Given the description of an element on the screen output the (x, y) to click on. 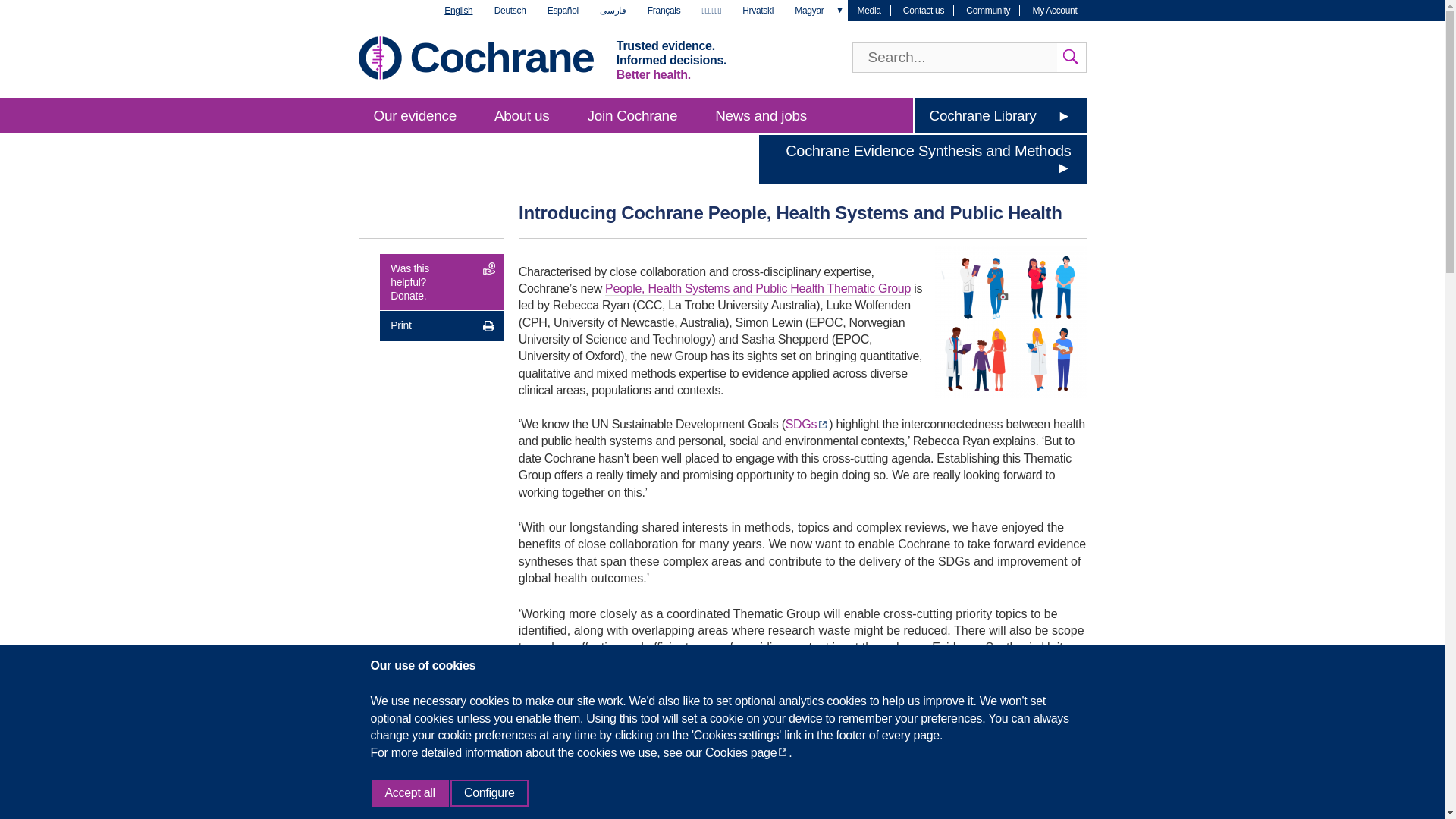
Home (379, 57)
Deutsch (509, 10)
Search (1071, 57)
Our evidence (414, 115)
Home (500, 57)
SDGs (807, 424)
People, Health Systems and Public Health Thematic Group (758, 288)
Media (868, 9)
Cochrane (500, 57)
Search (1071, 57)
About us (521, 115)
Magyar (809, 10)
People, Health Systems and Public Health (802, 746)
Hrvatski (758, 10)
